Given the description of an element on the screen output the (x, y) to click on. 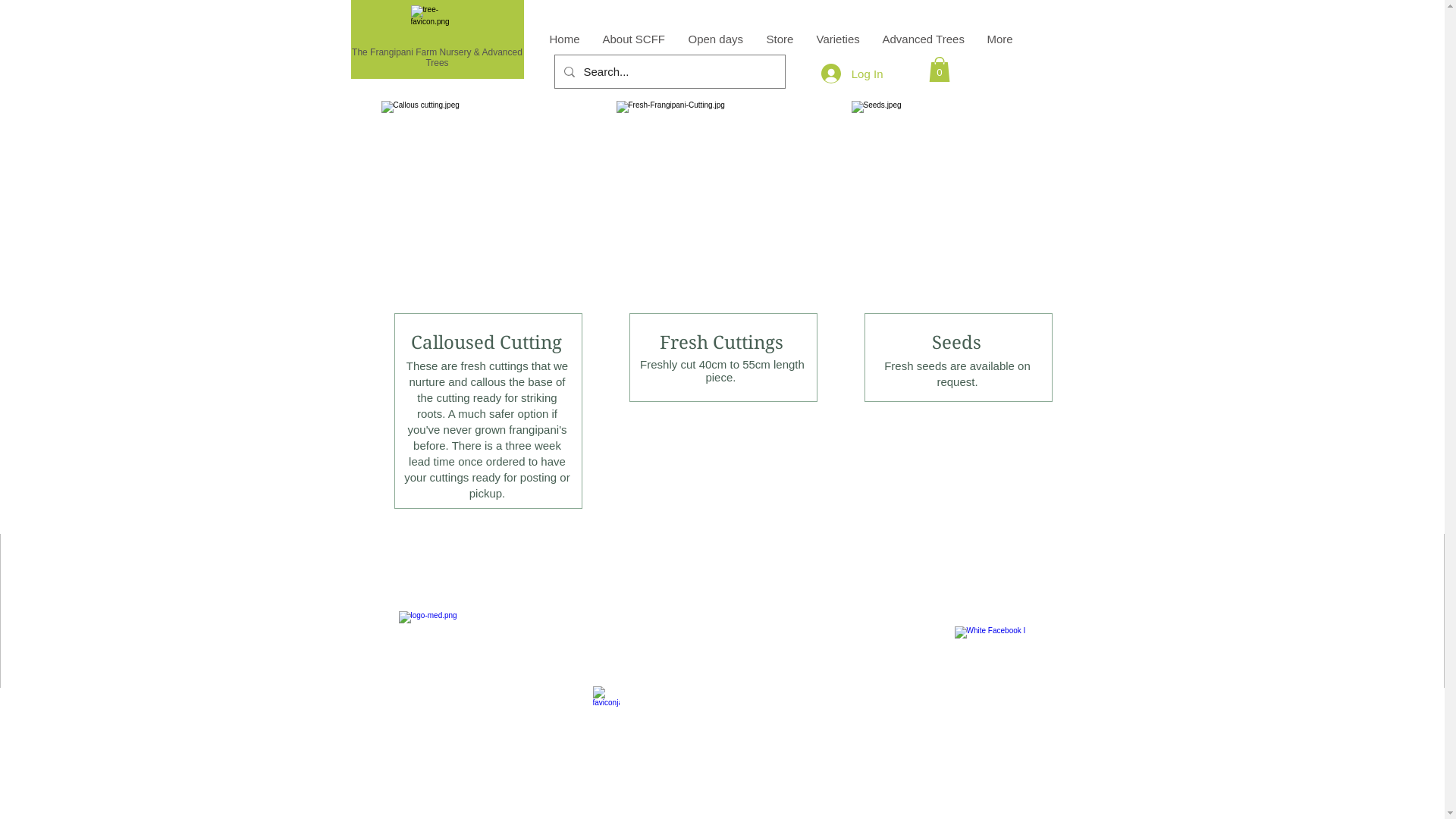
Log In Element type: text (852, 73)
About SCFF Element type: text (634, 39)
Advanced Trees Element type: text (922, 39)
The Frangipani Farm Nursery & Advanced Trees Element type: text (436, 57)
Store Element type: text (780, 39)
0 Element type: text (938, 68)
Open days Element type: text (715, 39)
Home Element type: text (564, 39)
frangipanifarmsales@gmail.com Element type: text (724, 589)
